Given the description of an element on the screen output the (x, y) to click on. 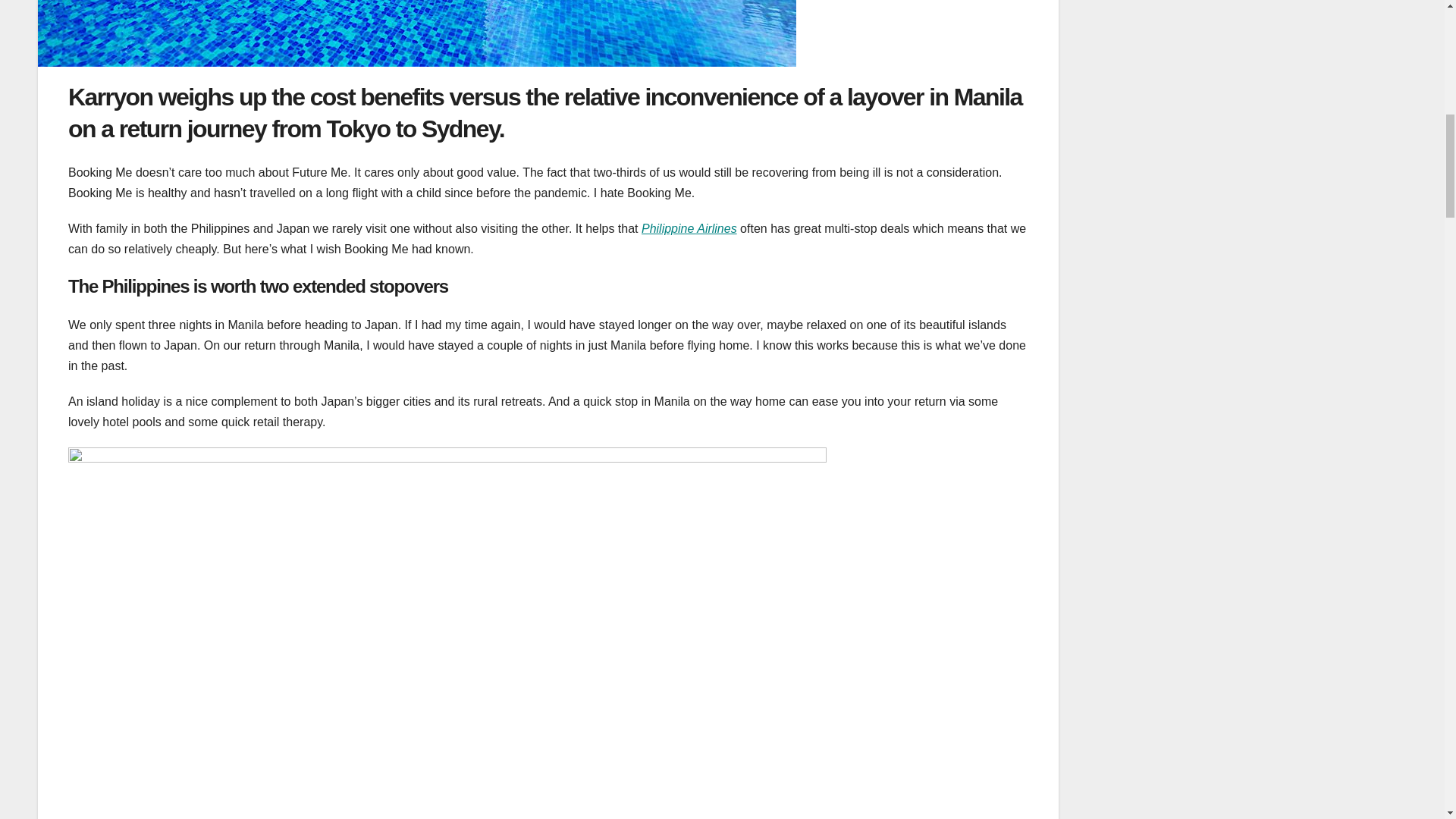
Philippine Airlines (689, 228)
